Given the description of an element on the screen output the (x, y) to click on. 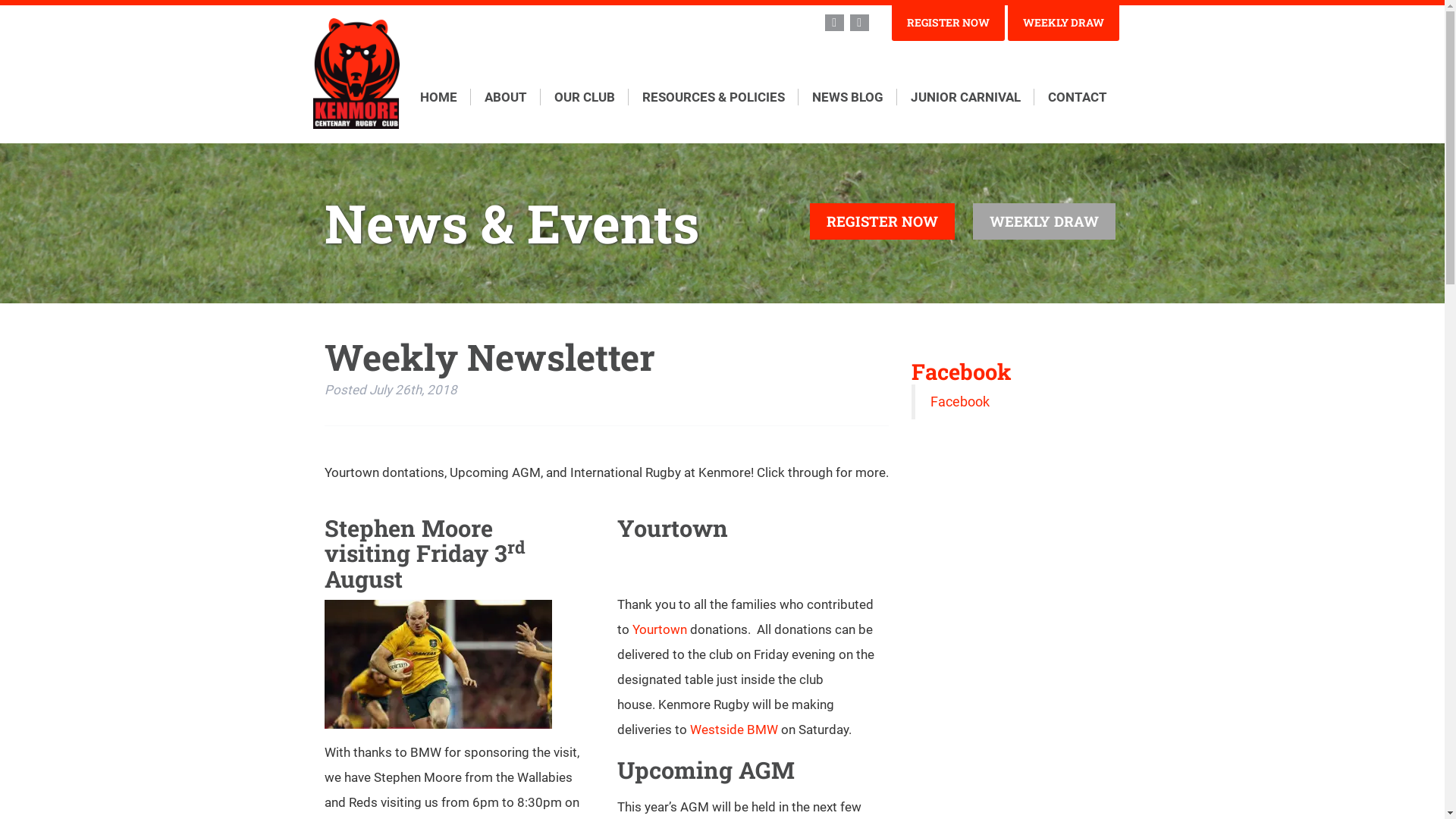
ABOUT Element type: text (504, 97)
WEEKLY DRAW Element type: text (1043, 221)
HOME Element type: text (445, 97)
RESOURCES & POLICIES Element type: text (712, 97)
Westside BMW Element type: text (734, 729)
OUR CLUB Element type: text (583, 97)
REGISTER NOW Element type: text (947, 22)
Facebook Element type: text (958, 401)
NEWS BLOG Element type: text (846, 97)
CONTACT Element type: text (1077, 97)
Facebook Element type: text (961, 371)
Yourtown Element type: text (659, 629)
REGISTER NOW Element type: text (881, 221)
WEEKLY DRAW Element type: text (1063, 22)
JUNIOR CARNIVAL Element type: text (964, 97)
